Given the description of an element on the screen output the (x, y) to click on. 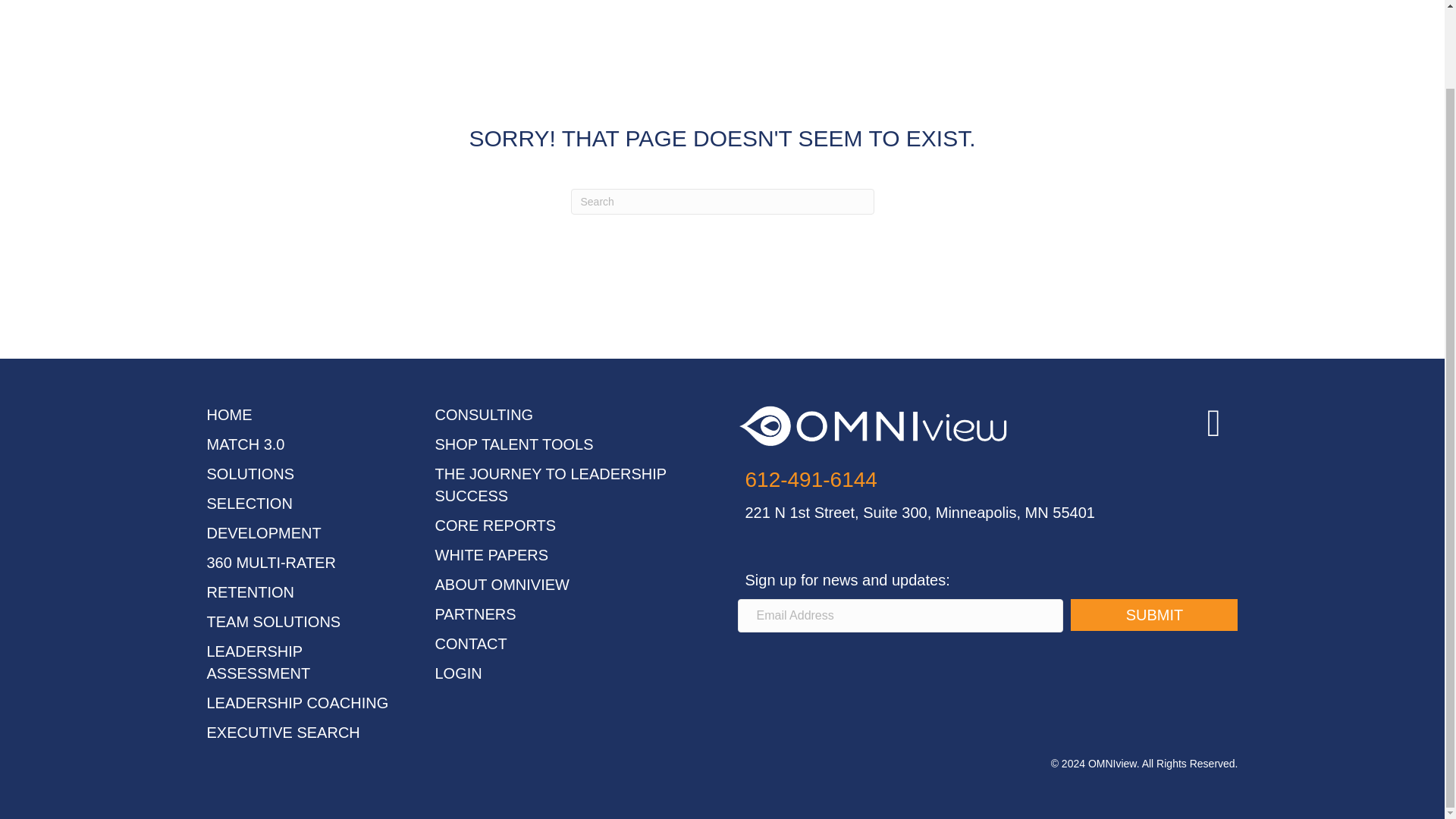
omniview-logo-inverse (872, 425)
CONSULTING (484, 414)
HOME (228, 414)
TEAM SOLUTIONS (273, 621)
CORE REPORTS (495, 524)
Type and press Enter to search. (721, 201)
SELECTION (249, 503)
LEADERSHIP ASSESSMENT (258, 661)
THE JOURNEY TO LEADERSHIP SUCCESS (550, 485)
EXECUTIVE SEARCH (282, 732)
MATCH 3.0 (244, 443)
DEVELOPMENT (263, 532)
SHOP TALENT TOOLS (514, 443)
SOLUTIONS (250, 474)
360 MULTI-RATER (270, 562)
